Given the description of an element on the screen output the (x, y) to click on. 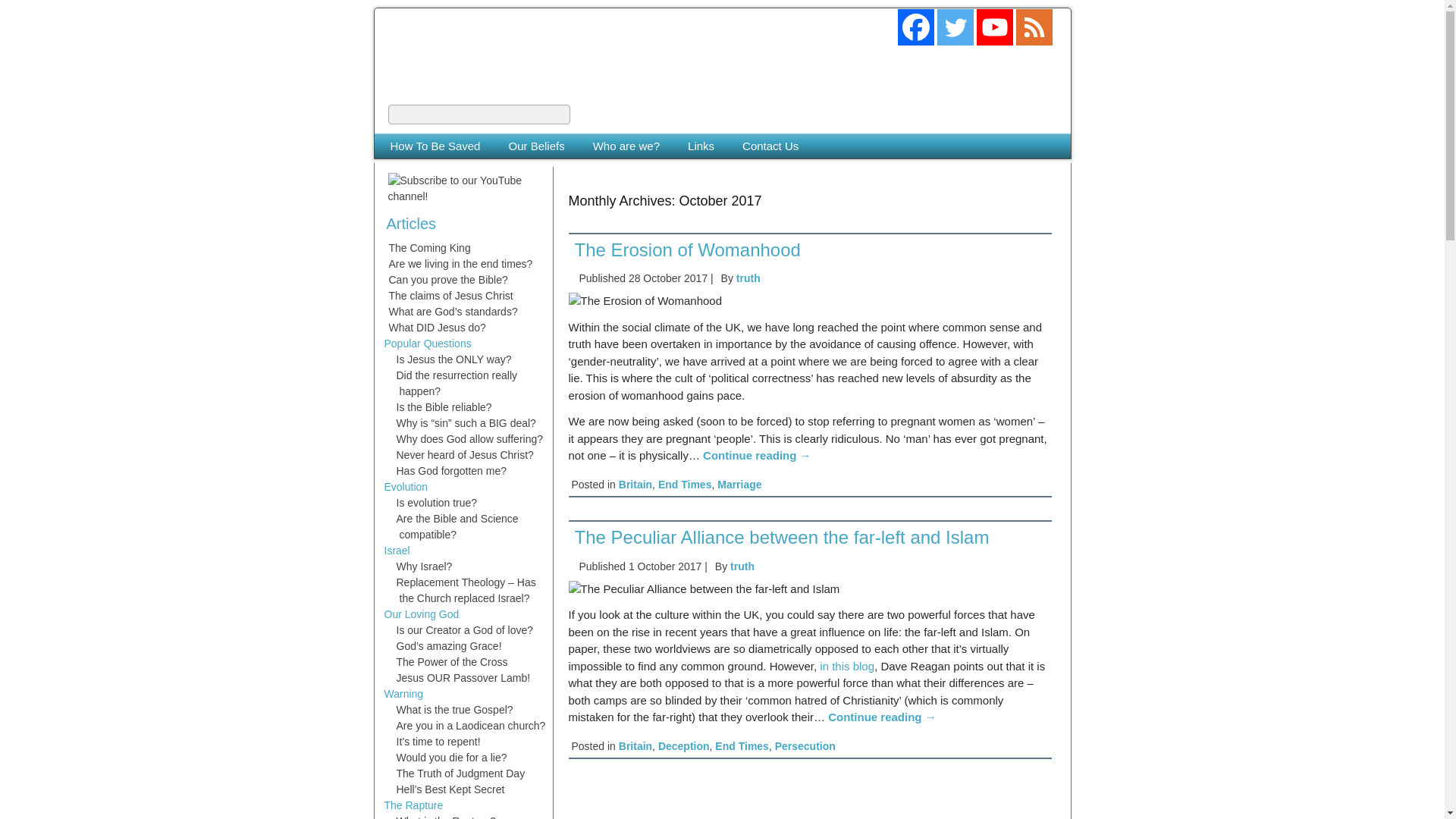
Twitter (955, 27)
Who are we? (625, 146)
Youtube Channel (994, 27)
Who are we? (625, 146)
Links (700, 146)
Facebook (916, 27)
How To Be Saved (435, 146)
Contact Us (769, 146)
RSS feed (1034, 27)
How To Be Saved (435, 146)
